Given the description of an element on the screen output the (x, y) to click on. 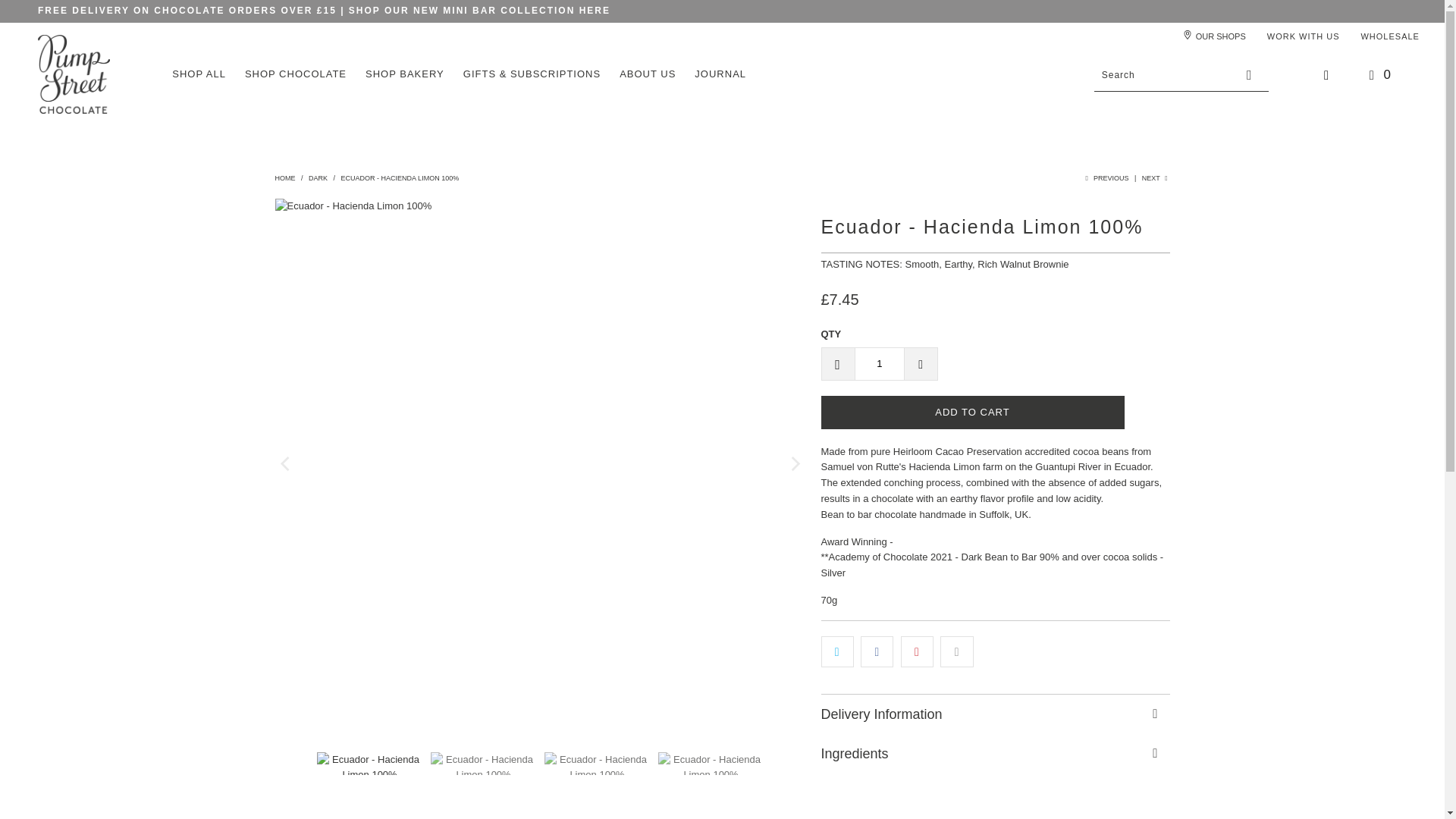
My Account  (1327, 74)
1 (878, 363)
Next (1155, 177)
Email this to a friend (956, 651)
Share this on Twitter (837, 651)
dark (317, 177)
Pump Street Chocolate (285, 177)
Share this on Pinterest (917, 651)
Mini bars (594, 9)
Previous (1104, 177)
Pump Street Chocolate (73, 75)
Share this on Facebook (876, 651)
